Given the description of an element on the screen output the (x, y) to click on. 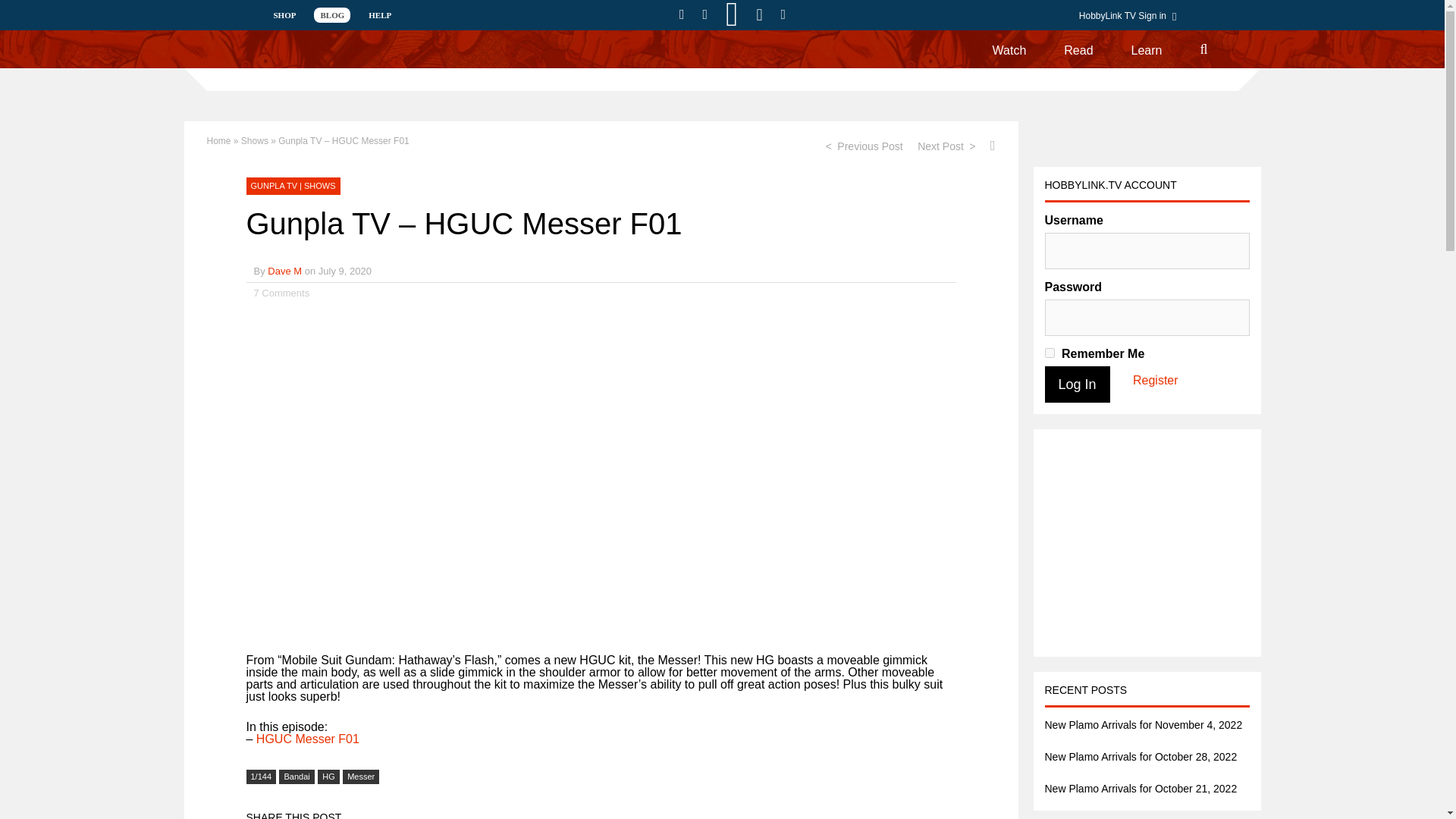
BLOG (332, 14)
forever (1049, 352)
HELP (379, 14)
Log In (1077, 384)
HobbyLink TV Sign in (1131, 16)
SHOP (283, 14)
Watch (1009, 48)
